Given the description of an element on the screen output the (x, y) to click on. 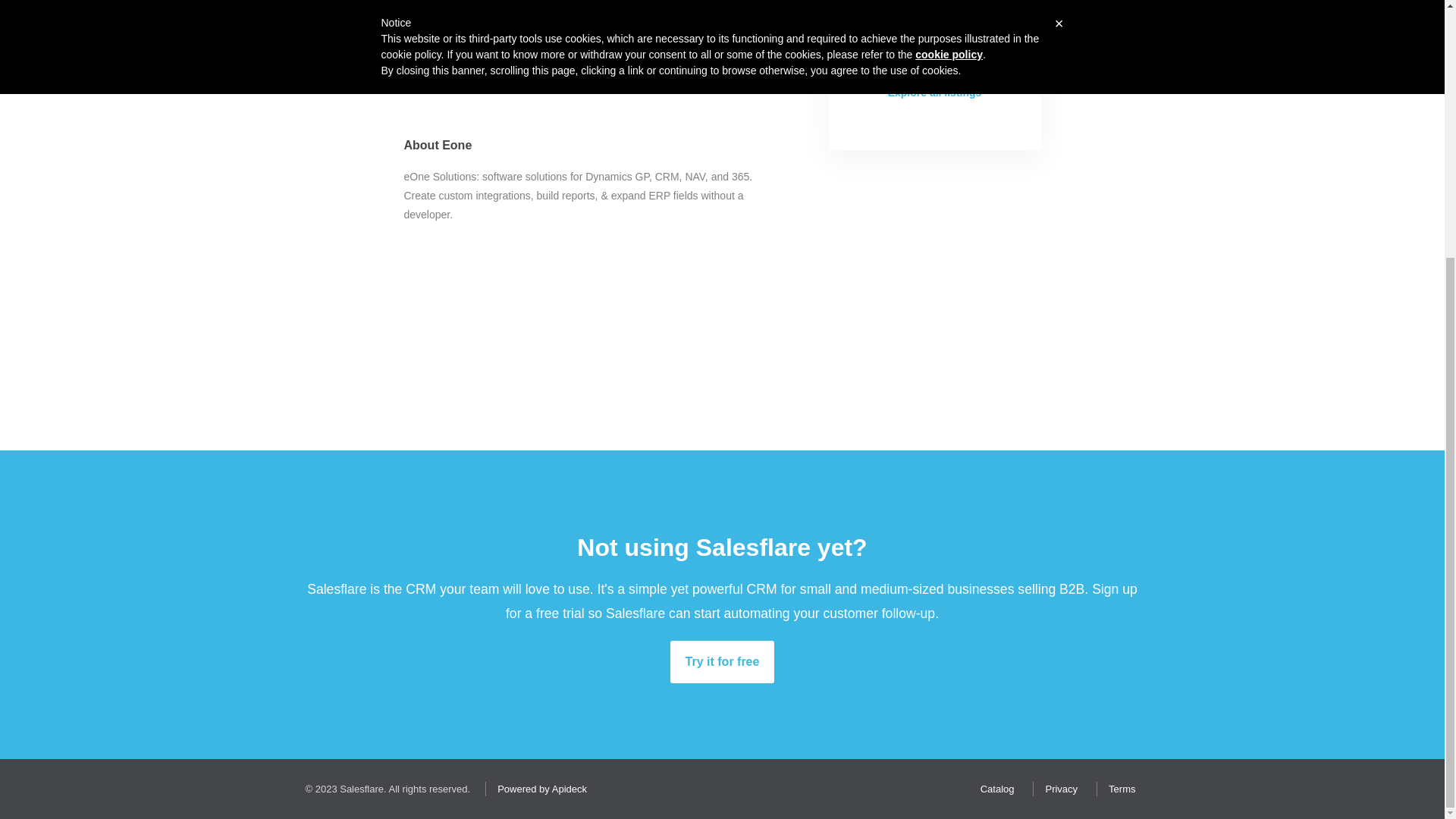
Powered by Apideck (538, 789)
Terms (1117, 789)
Try it for free (721, 661)
Privacy (1057, 789)
Catalog (993, 789)
Explore all listings (934, 92)
Request this listing (934, 37)
